Given the description of an element on the screen output the (x, y) to click on. 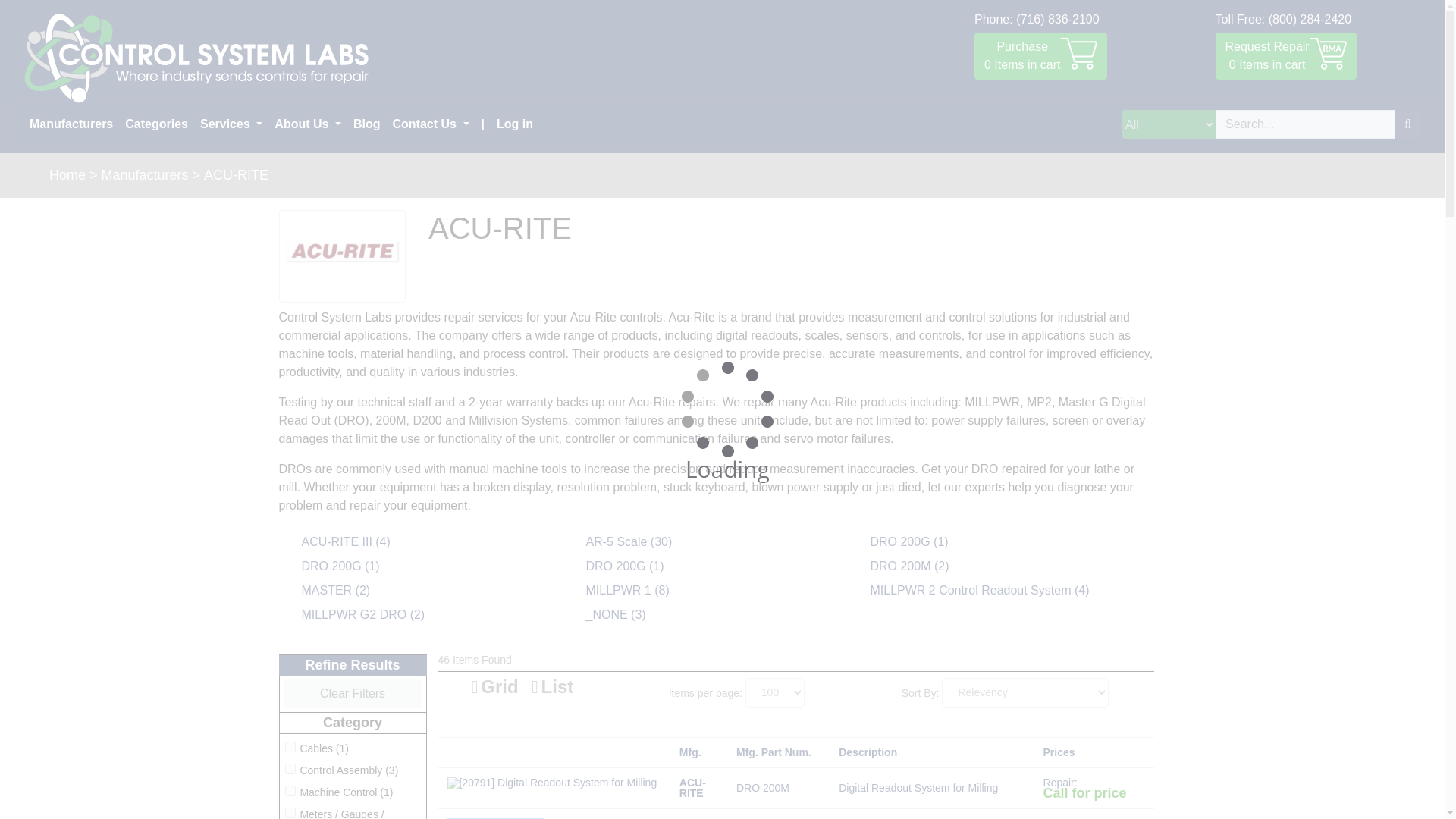
About Us (307, 123)
Search (1407, 123)
Clear Filters (352, 693)
Services (230, 123)
Home (67, 175)
Blog (367, 123)
c-1068 (290, 790)
Manufacturers (71, 123)
c-1210 (1040, 55)
Manufacturers (290, 812)
Contact Us (145, 175)
c-1157 (431, 123)
Categories (1284, 55)
